Given the description of an element on the screen output the (x, y) to click on. 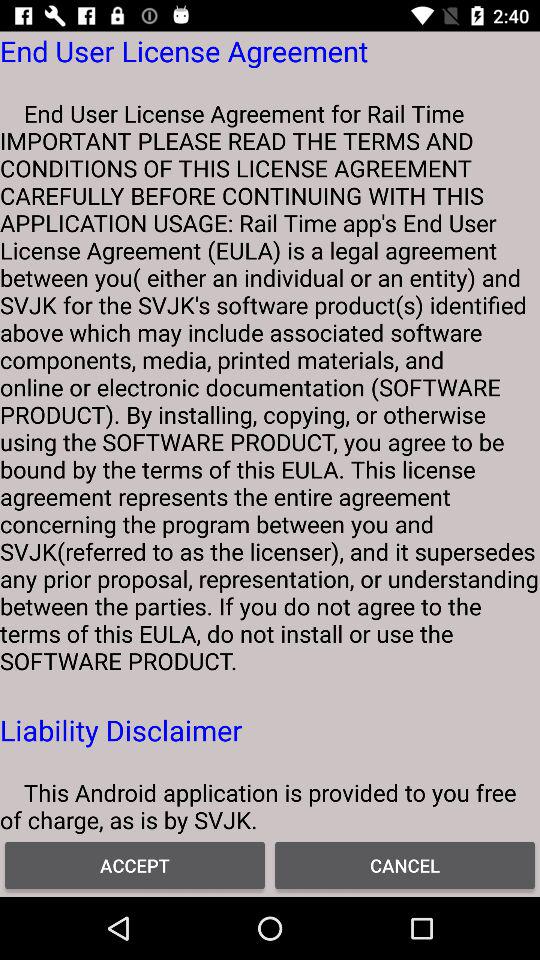
launch cancel (405, 864)
